Given the description of an element on the screen output the (x, y) to click on. 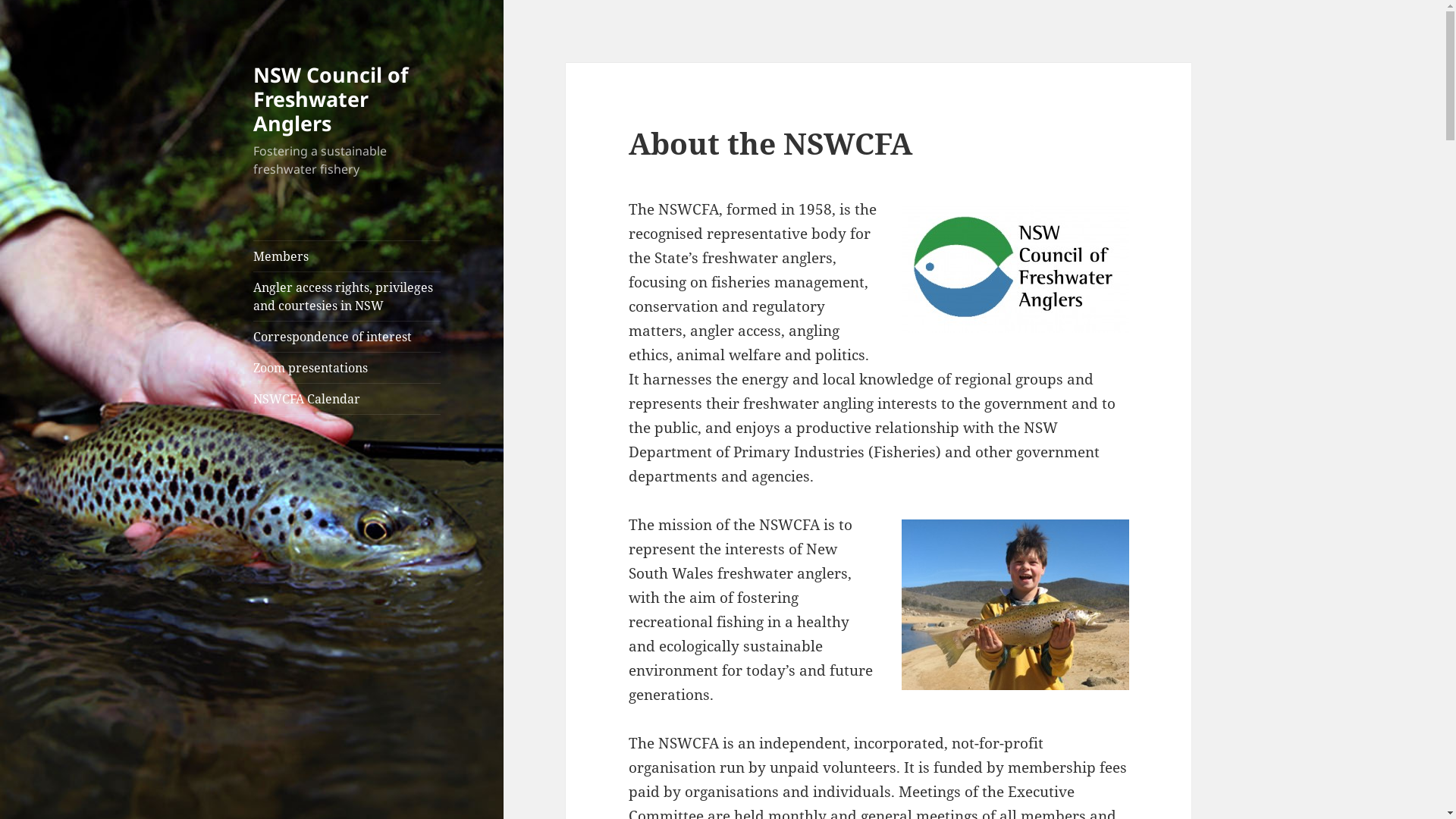
Zoom presentations Element type: text (347, 367)
Members Element type: text (347, 256)
Correspondence of interest Element type: text (347, 336)
Angler access rights, privileges and courtesies in NSW Element type: text (347, 296)
NSW Council of Freshwater Anglers Element type: text (330, 98)
NSWCFA Calendar Element type: text (347, 398)
